Given the description of an element on the screen output the (x, y) to click on. 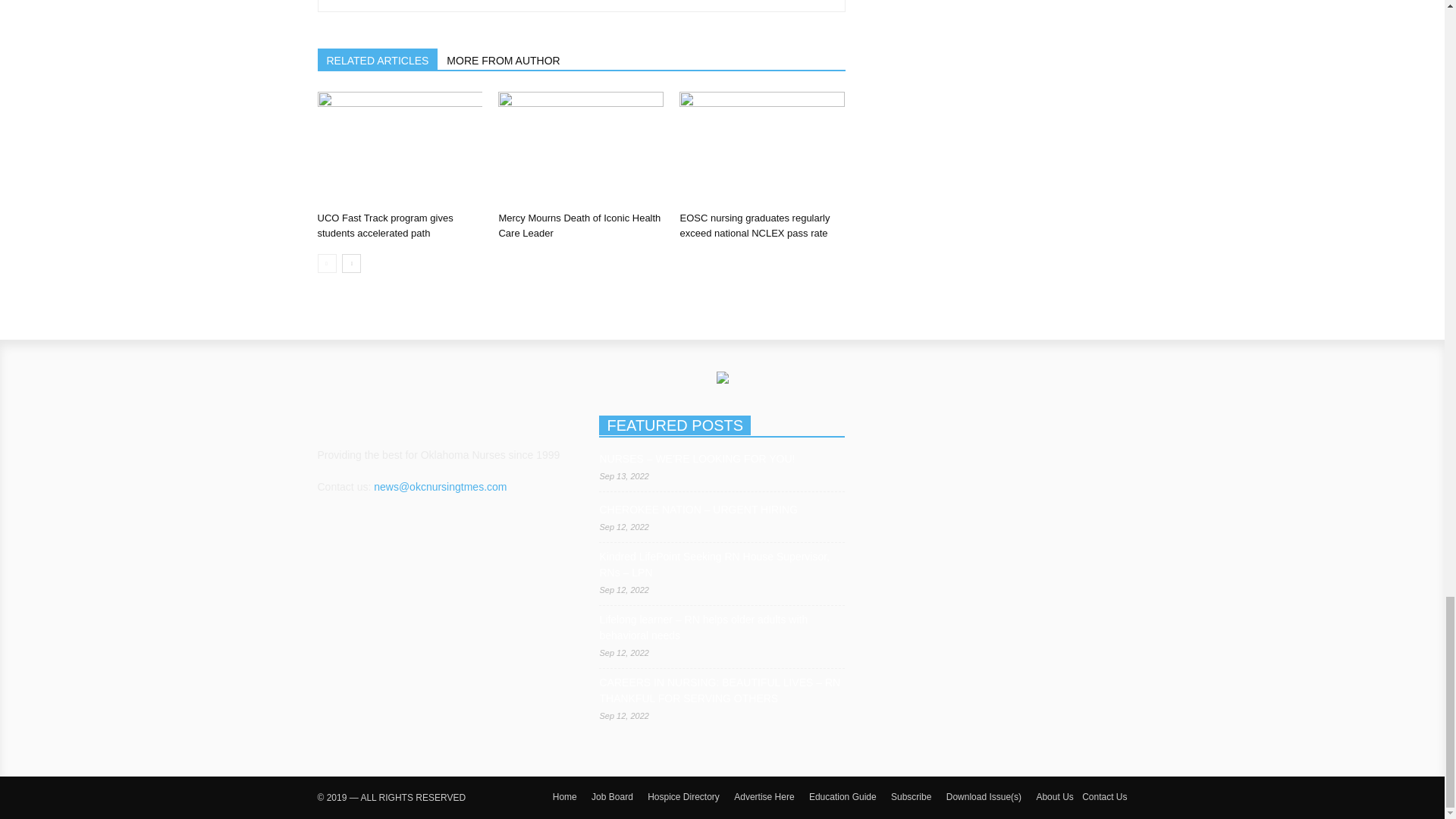
UCO Fast Track program gives students accelerated path (384, 225)
UCO Fast Track program gives students accelerated path (399, 148)
Mercy Mourns Death of Iconic Health Care Leader (580, 148)
